Given the description of an element on the screen output the (x, y) to click on. 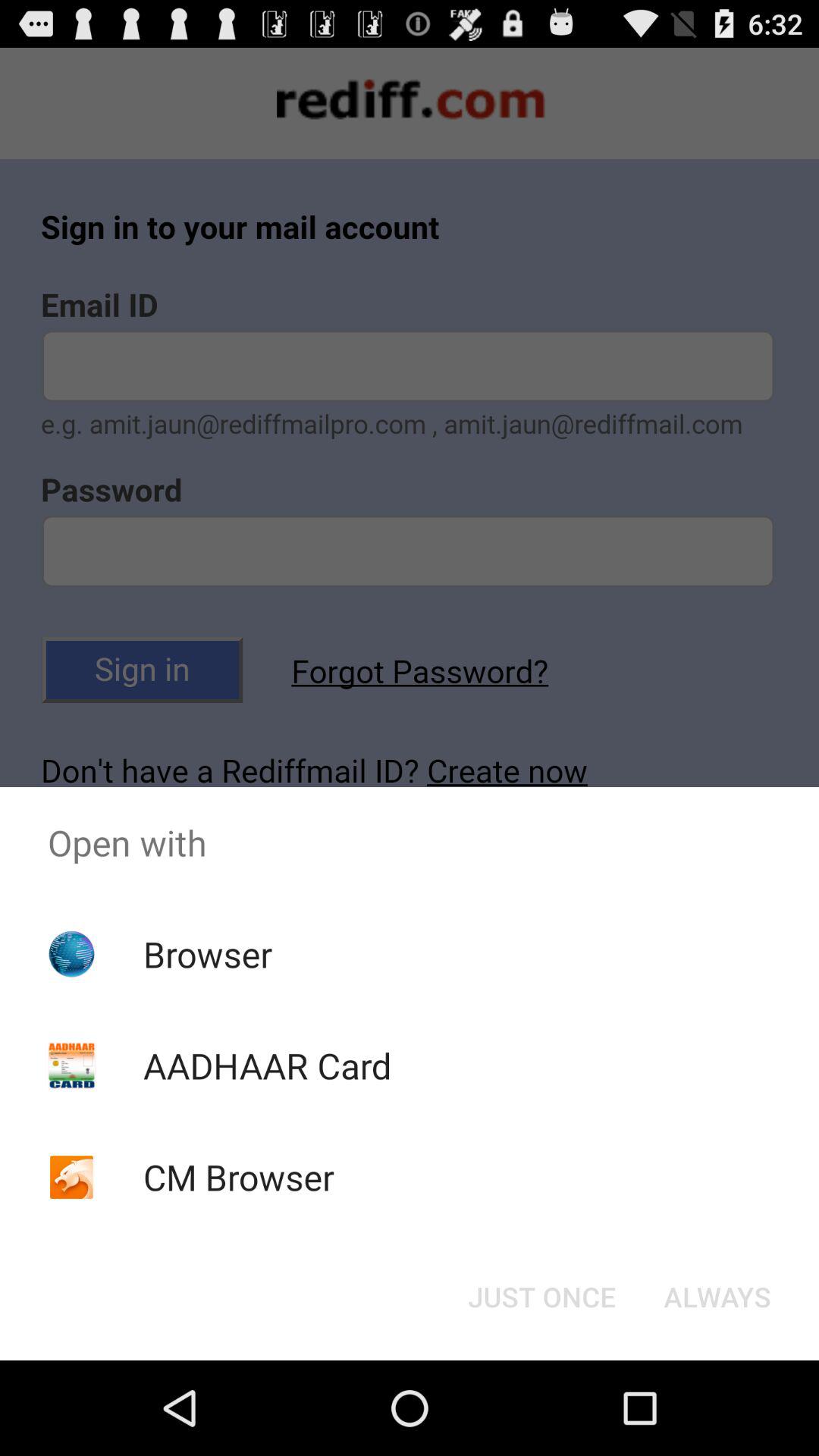
tap the item below the browser item (267, 1065)
